Given the description of an element on the screen output the (x, y) to click on. 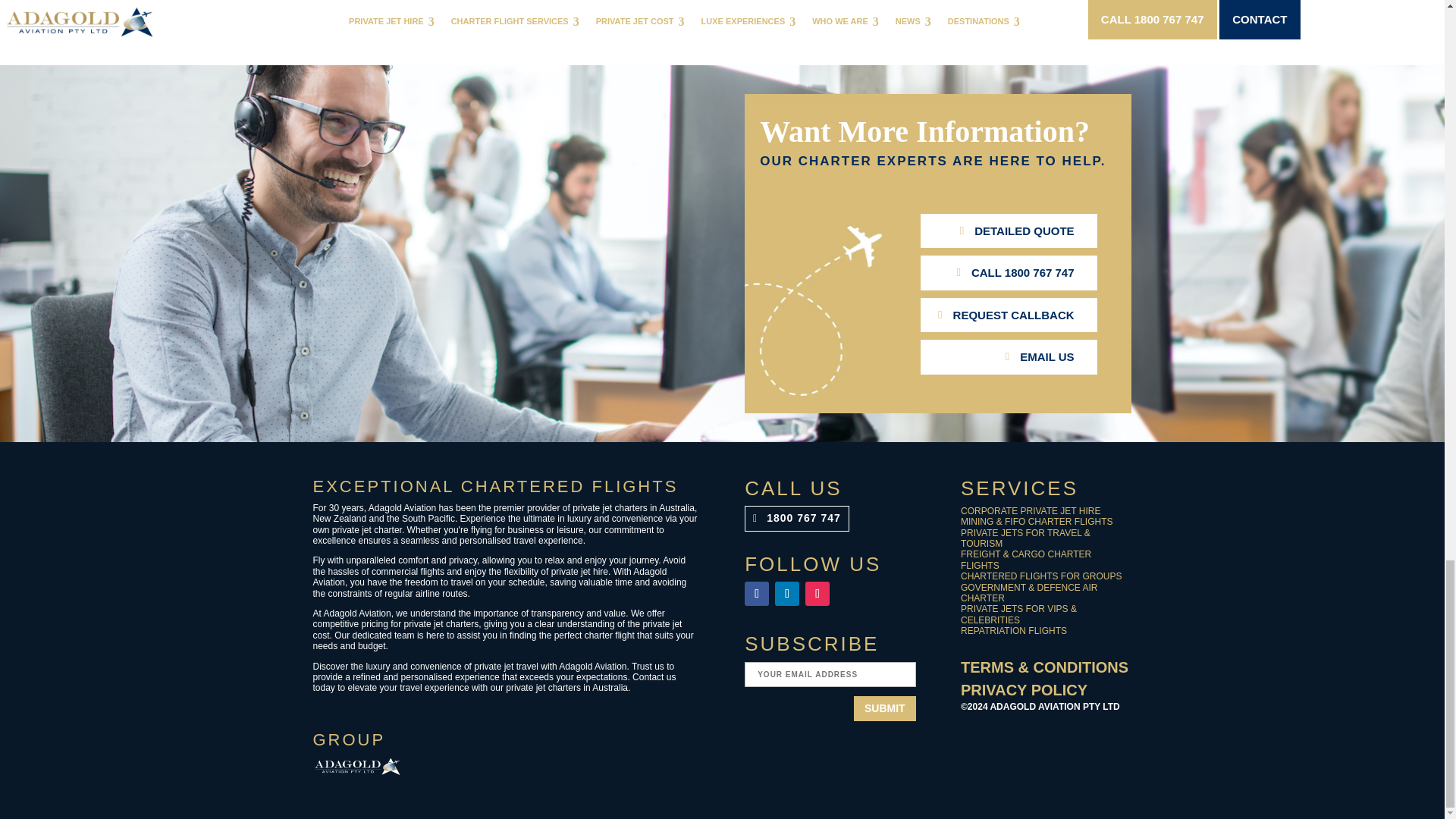
Aero-Adapt (550, 765)
Submit (884, 708)
Techsafe (454, 765)
Follow on Facebook (756, 593)
Follow on Instagram (817, 593)
Adagold-Aviation (357, 765)
Follow on LinkedIn (786, 593)
ronin-marketing (1003, 742)
